Given the description of an element on the screen output the (x, y) to click on. 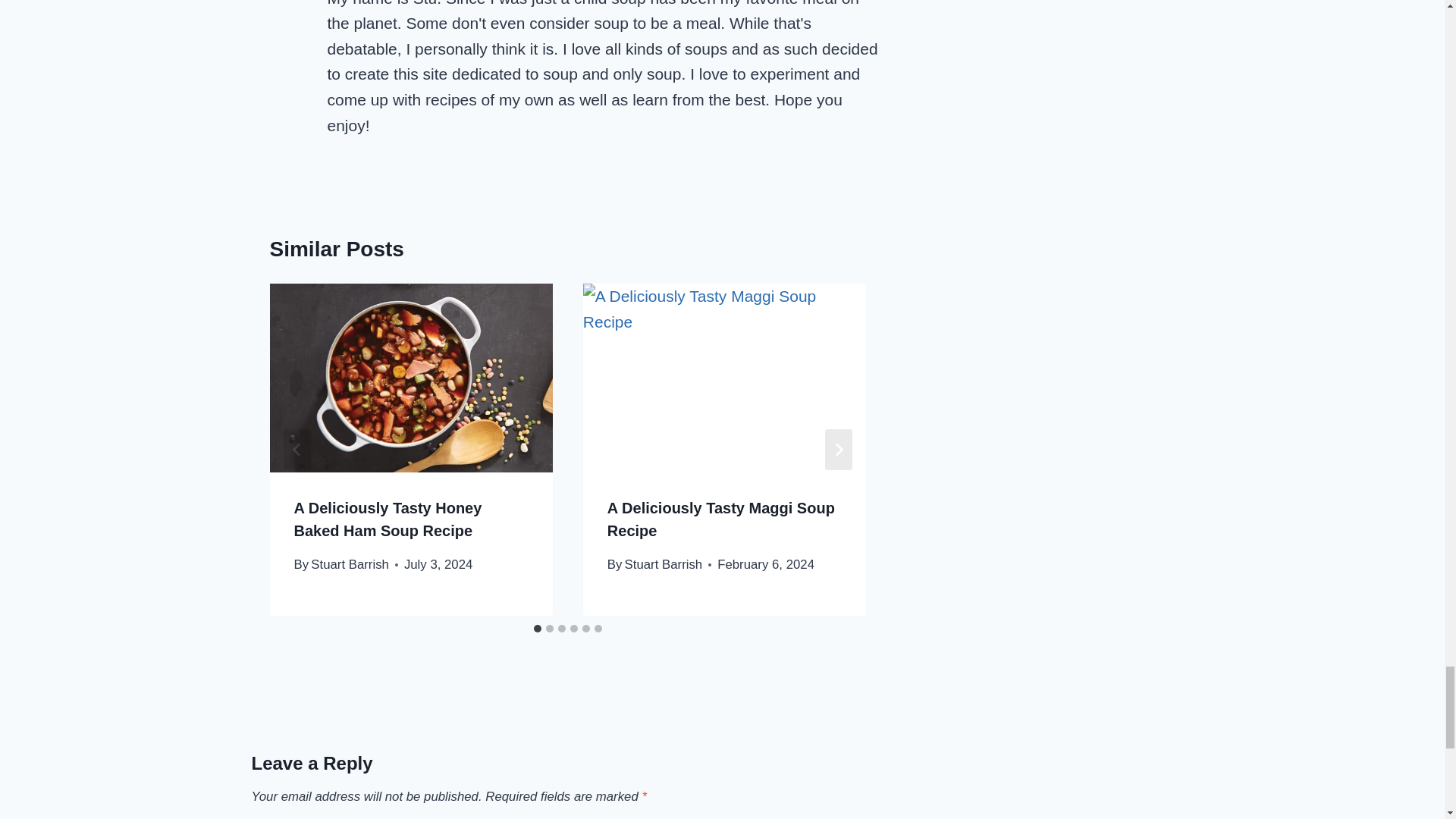
Stuart Barrish (349, 564)
A Deliciously Tasty Honey Baked Ham Soup Recipe (387, 518)
